Given the description of an element on the screen output the (x, y) to click on. 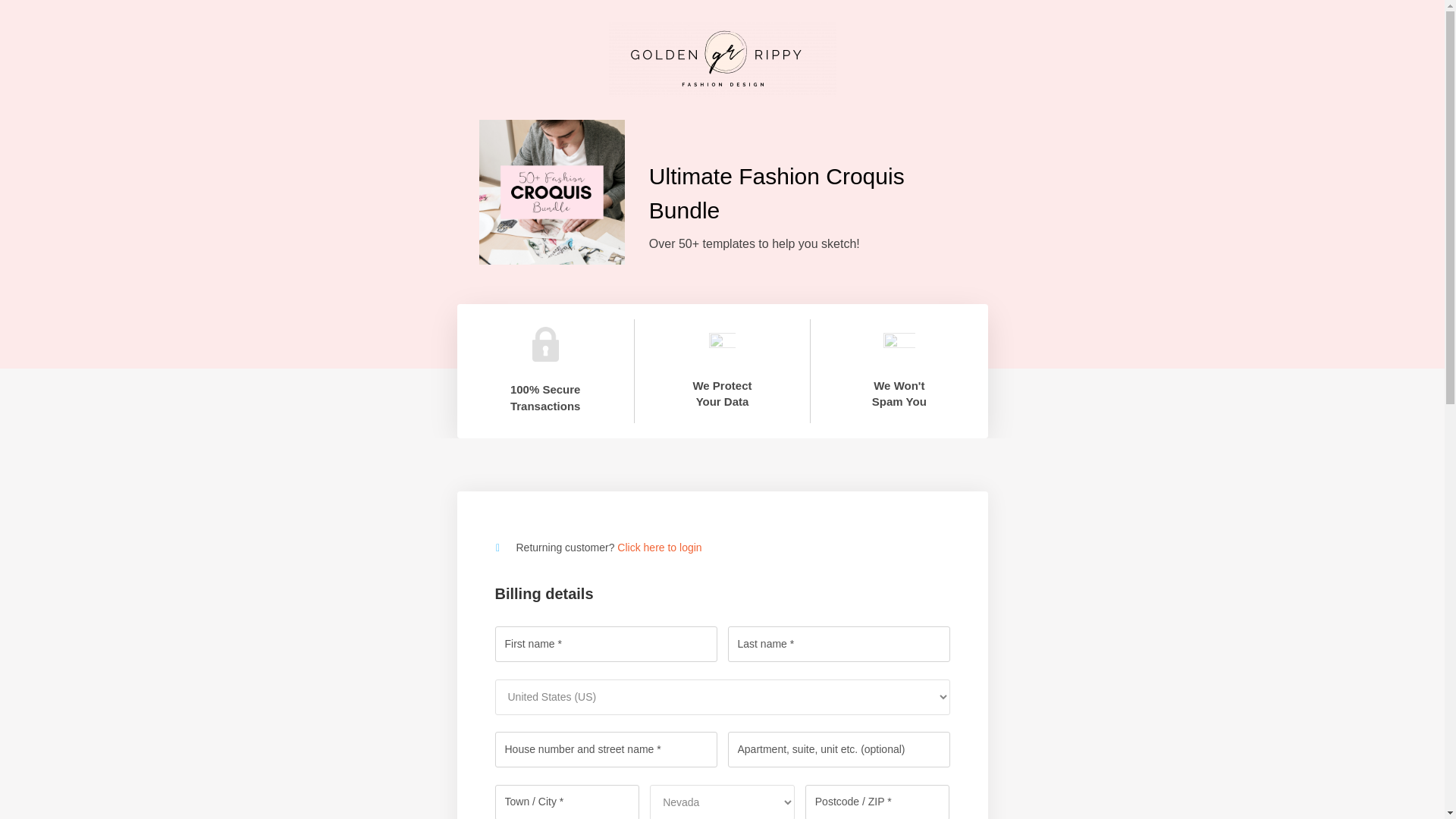
Click here to login (659, 547)
